Given the description of an element on the screen output the (x, y) to click on. 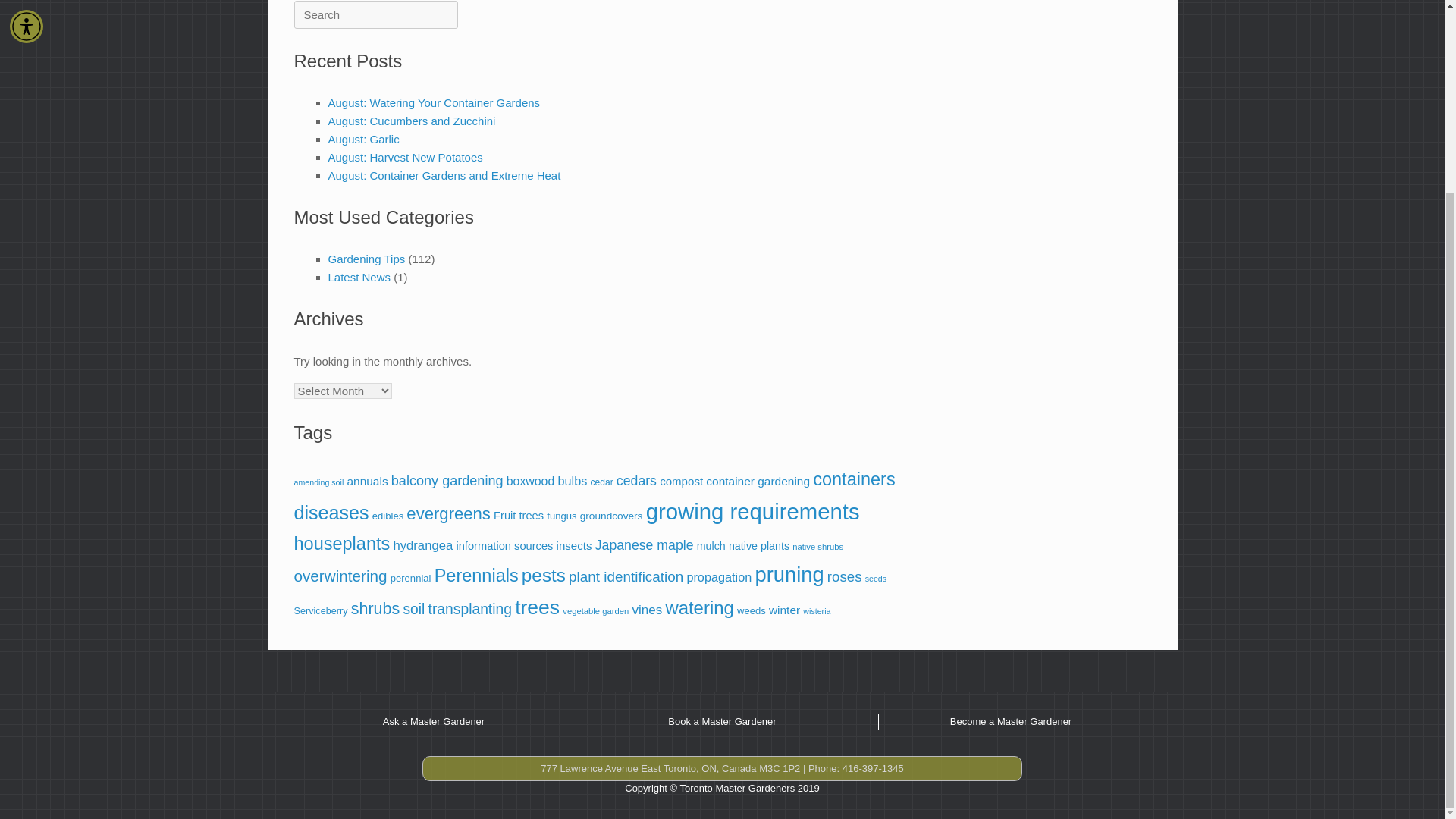
Latest News (358, 277)
cedars (635, 480)
fungus (561, 515)
amending soil (318, 481)
August: Watering Your Container Gardens (433, 102)
edibles (387, 515)
boxwood (530, 481)
container gardening (757, 481)
evergreens (448, 513)
August: Harvest New Potatoes (404, 156)
